Given the description of an element on the screen output the (x, y) to click on. 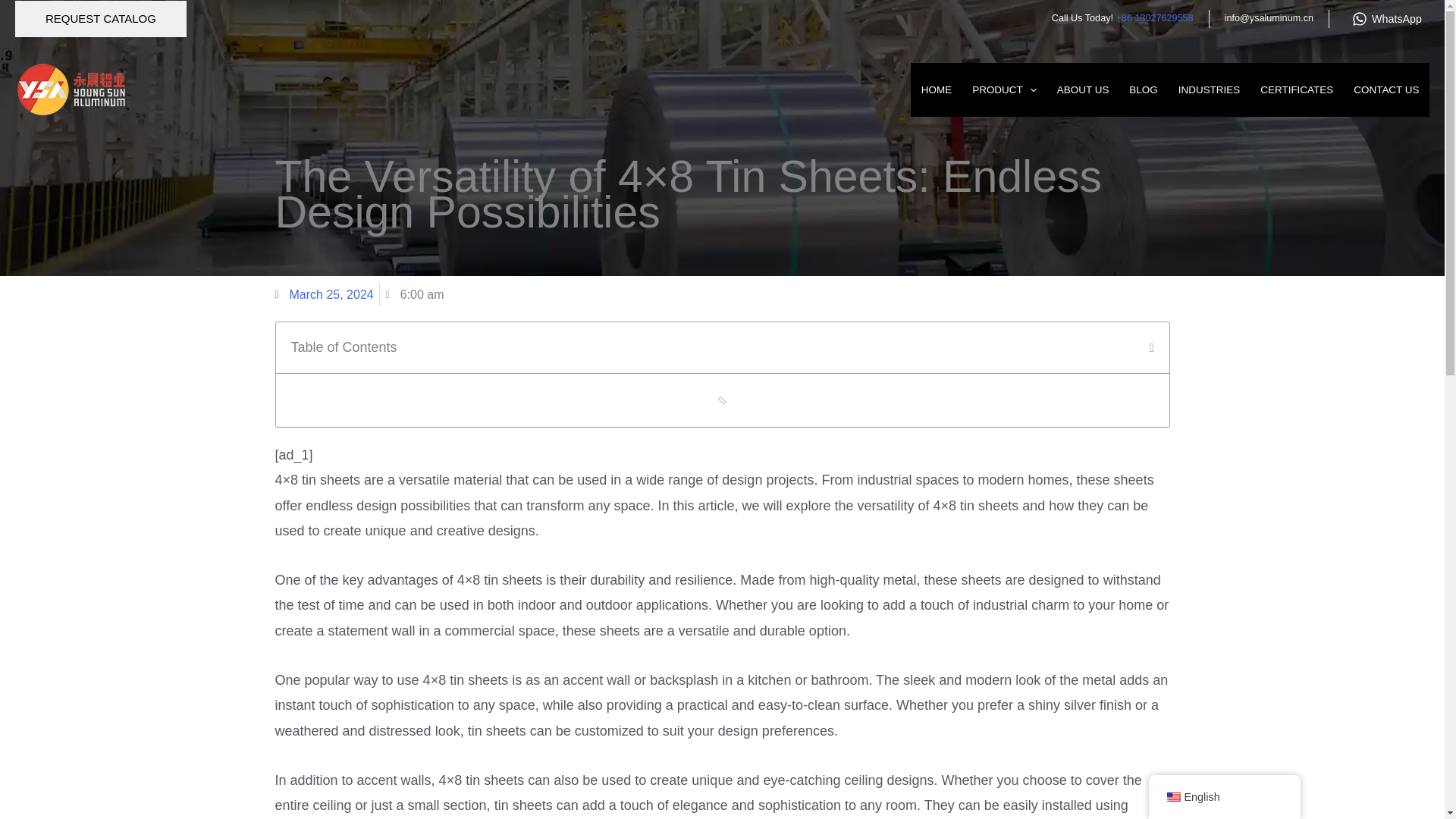
English (1172, 796)
ABOUT US (1082, 90)
CONTACT US (1386, 90)
HOME (935, 90)
INDUSTRIES (1208, 90)
CERTIFICATES (1296, 90)
WhatsApp (1386, 19)
REQUEST CATALOG (100, 18)
BLOG (1143, 90)
PRODUCT (1004, 90)
